Given the description of an element on the screen output the (x, y) to click on. 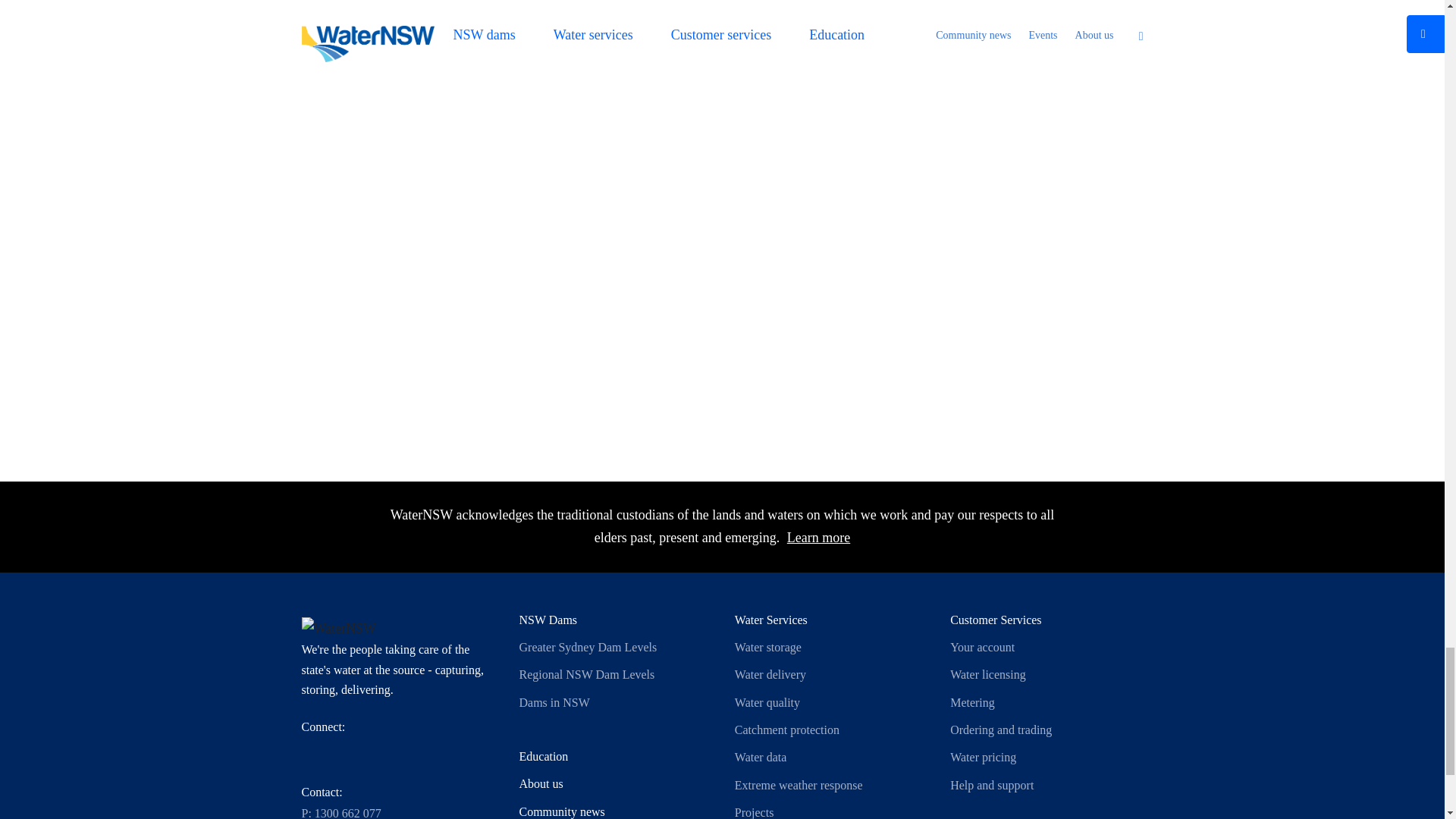
LinkedIn (414, 753)
Facebook (346, 753)
Twitter (312, 753)
Instagram (381, 753)
YouTube (449, 753)
